Given the description of an element on the screen output the (x, y) to click on. 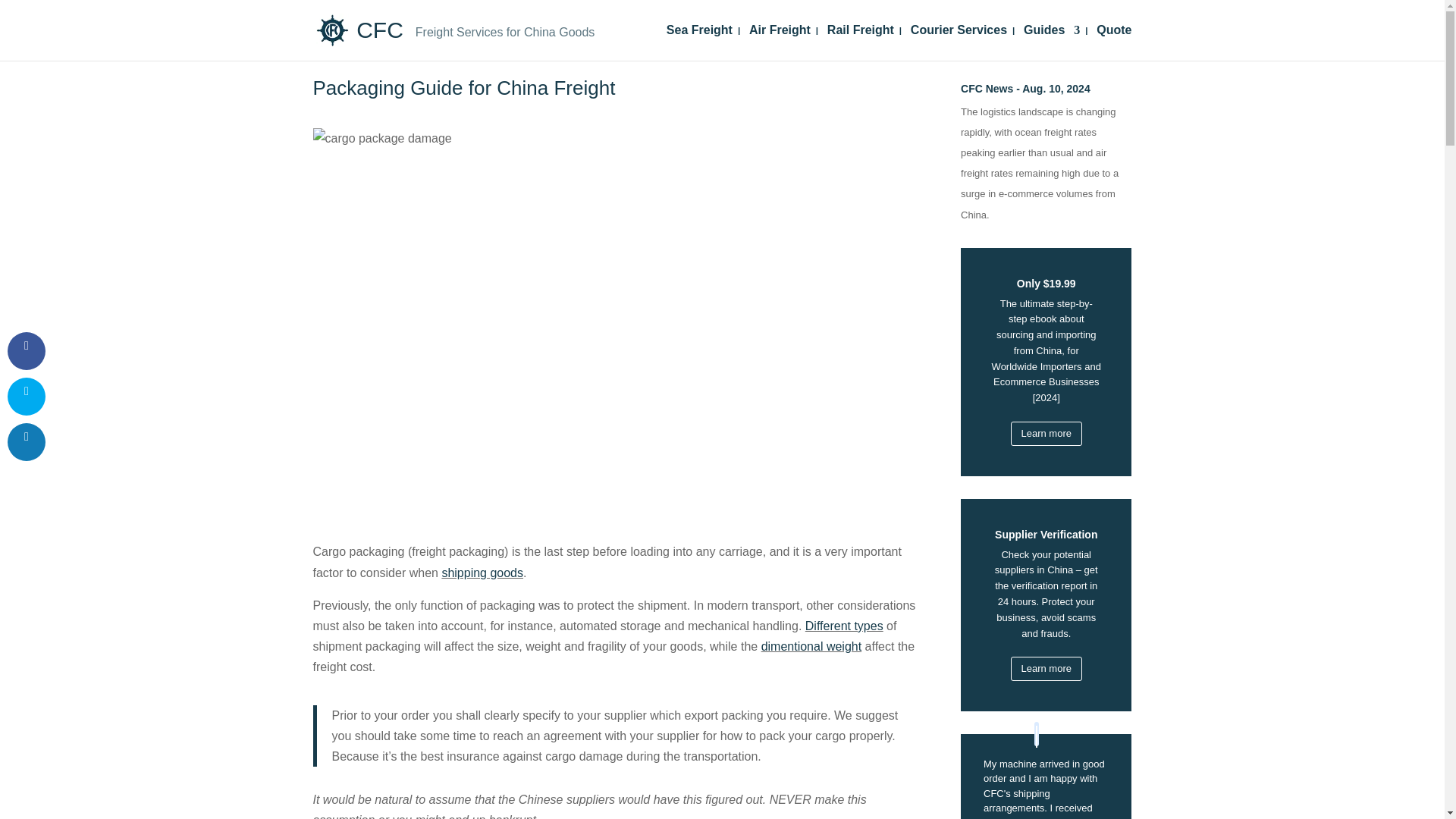
Courier Services (959, 42)
Rail Freight (860, 42)
shipping goods (481, 572)
Guides (1051, 42)
Sea Freight (699, 42)
Air Freight (779, 42)
Quote (1113, 42)
CFCFreight Services for China Goods (454, 29)
